Given the description of an element on the screen output the (x, y) to click on. 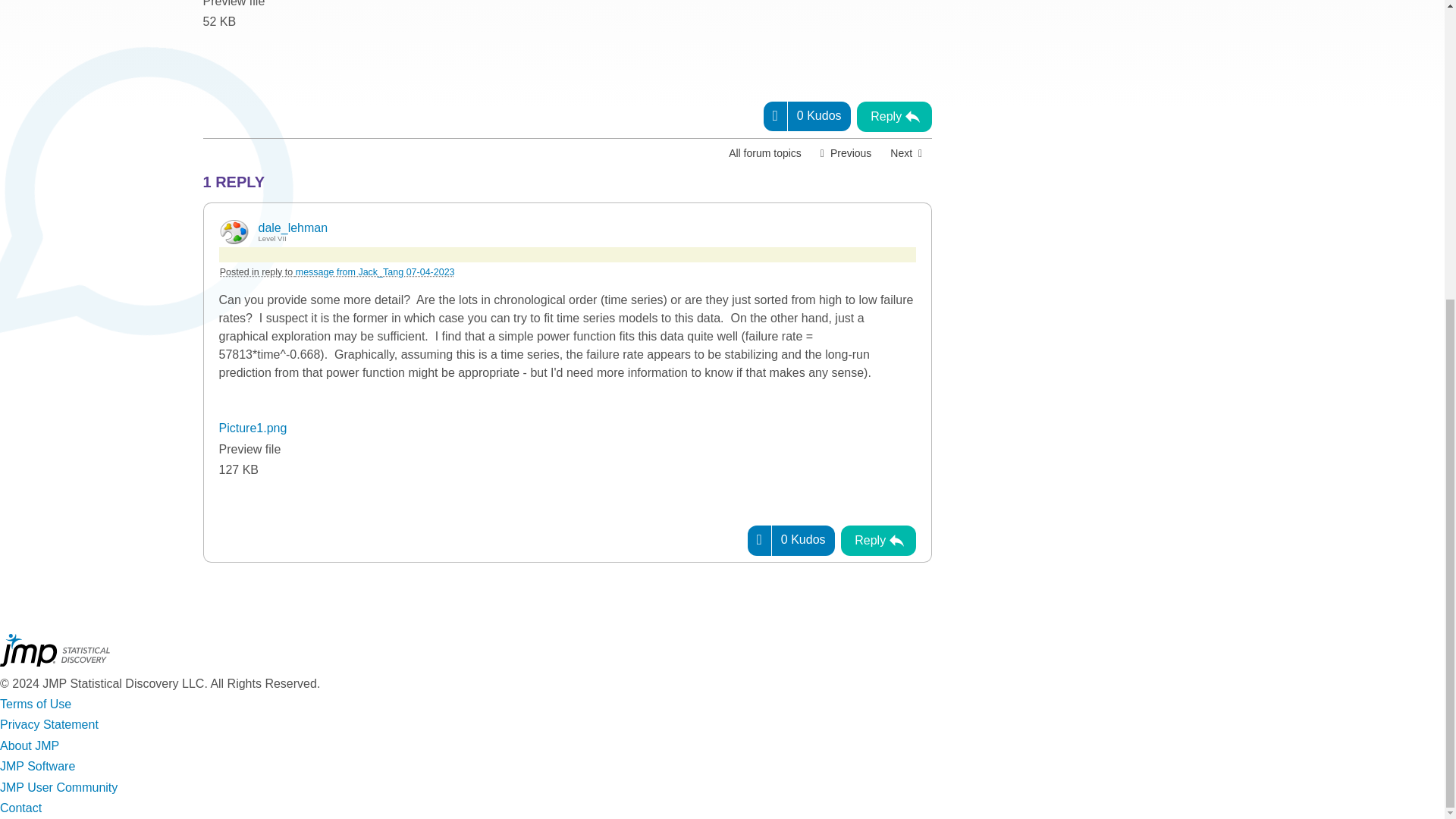
The total number of kudos this post has received. (818, 115)
